Given the description of an element on the screen output the (x, y) to click on. 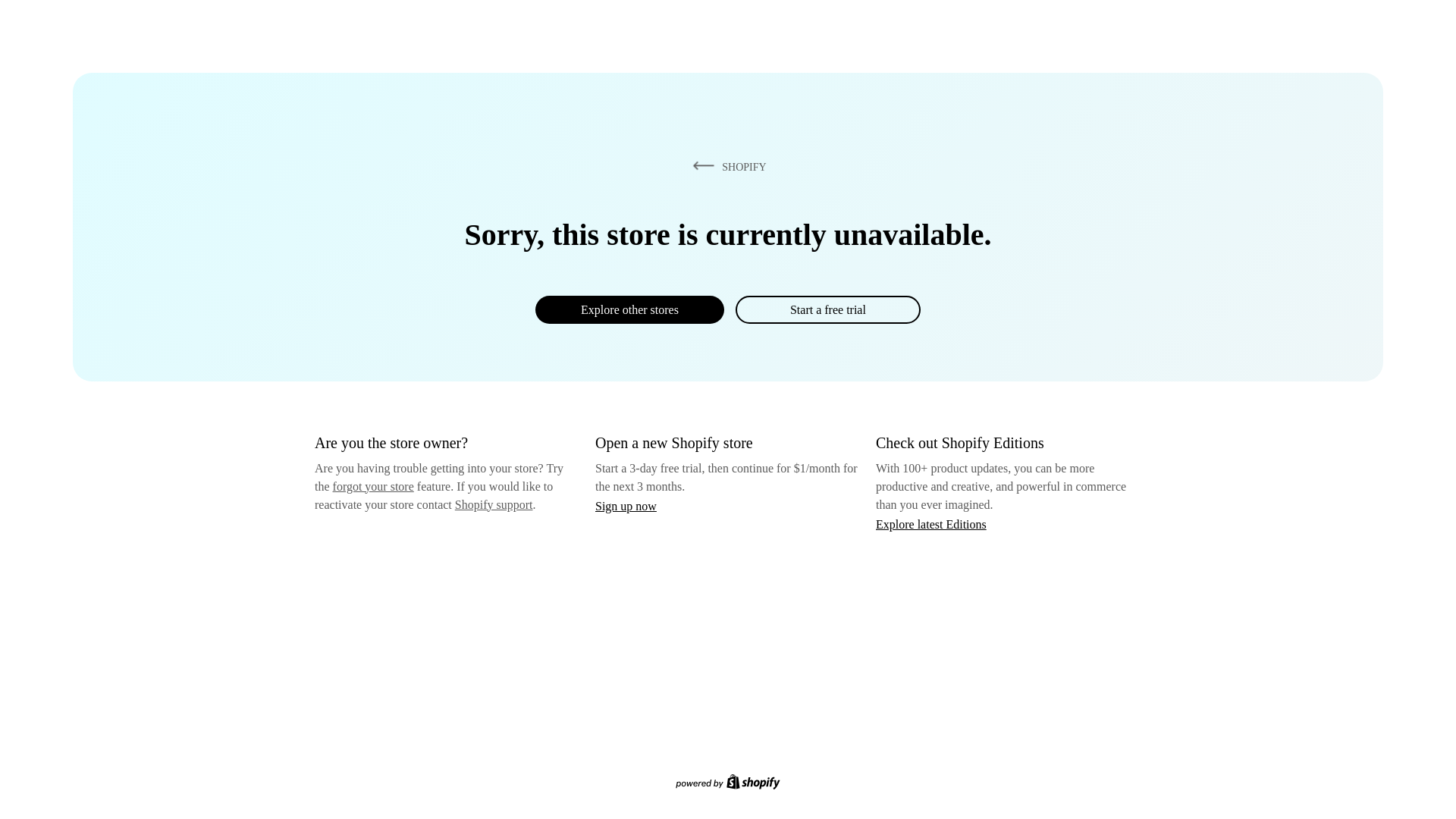
Shopify support (493, 504)
forgot your store (373, 486)
Start a free trial (827, 309)
Explore latest Editions (931, 523)
Sign up now (625, 505)
SHOPIFY (726, 166)
Explore other stores (629, 309)
